Given the description of an element on the screen output the (x, y) to click on. 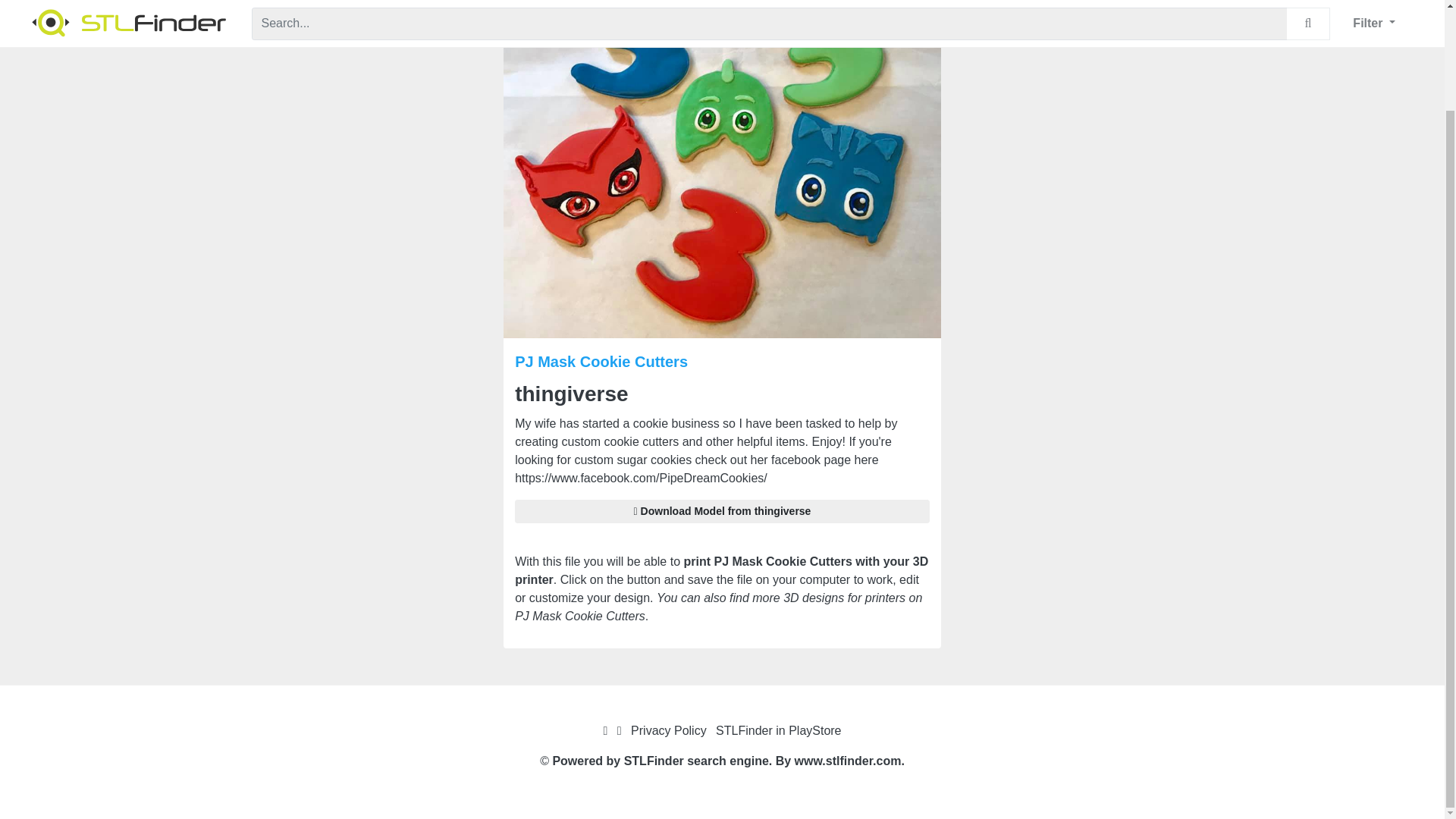
Privacy Policy (668, 730)
STLFinder in PlayStore (778, 730)
www.stlfinder.com (847, 760)
Download Model from thingiverse (722, 511)
